Given the description of an element on the screen output the (x, y) to click on. 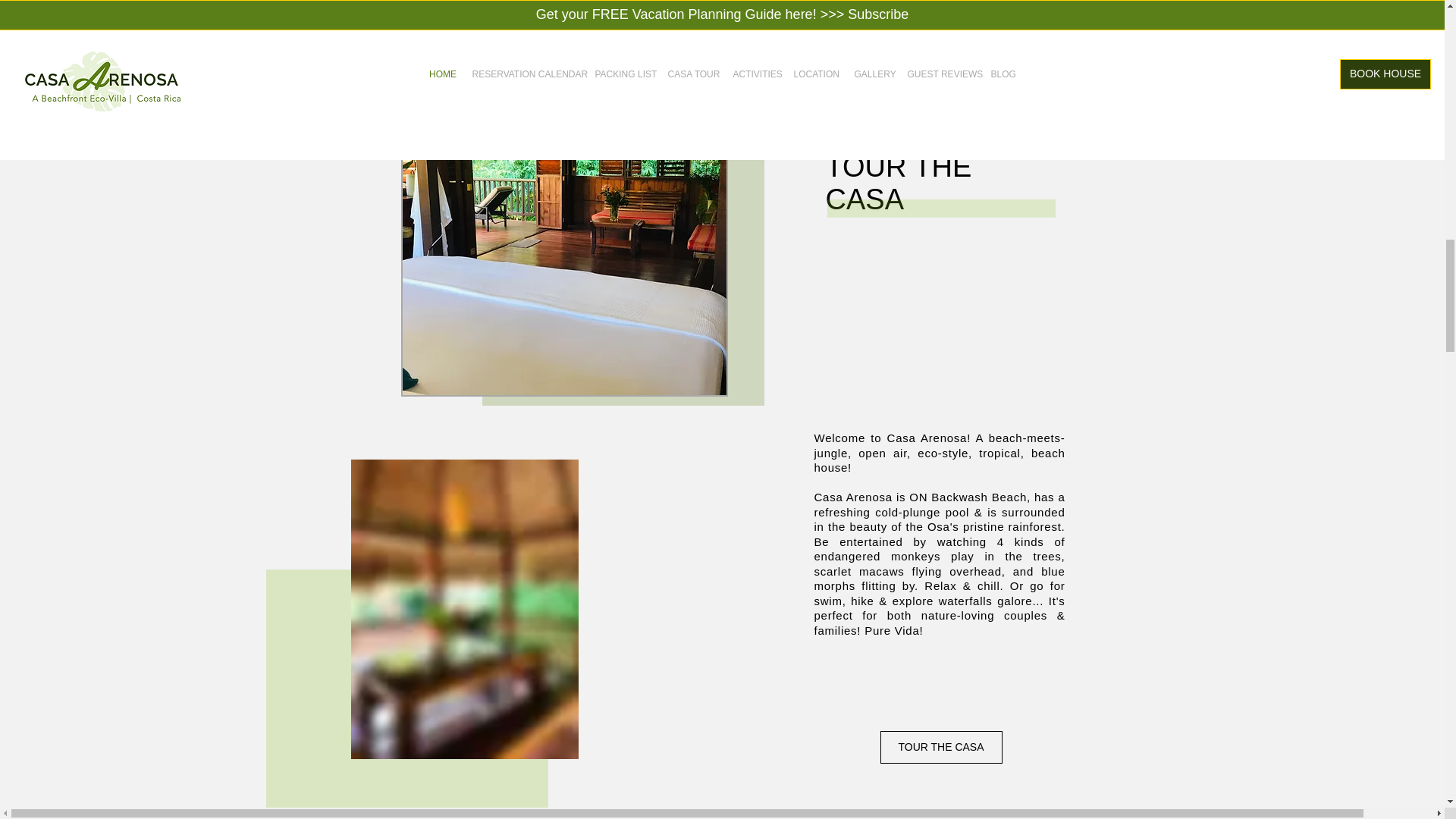
TOUR THE CASA (940, 747)
